Given the description of an element on the screen output the (x, y) to click on. 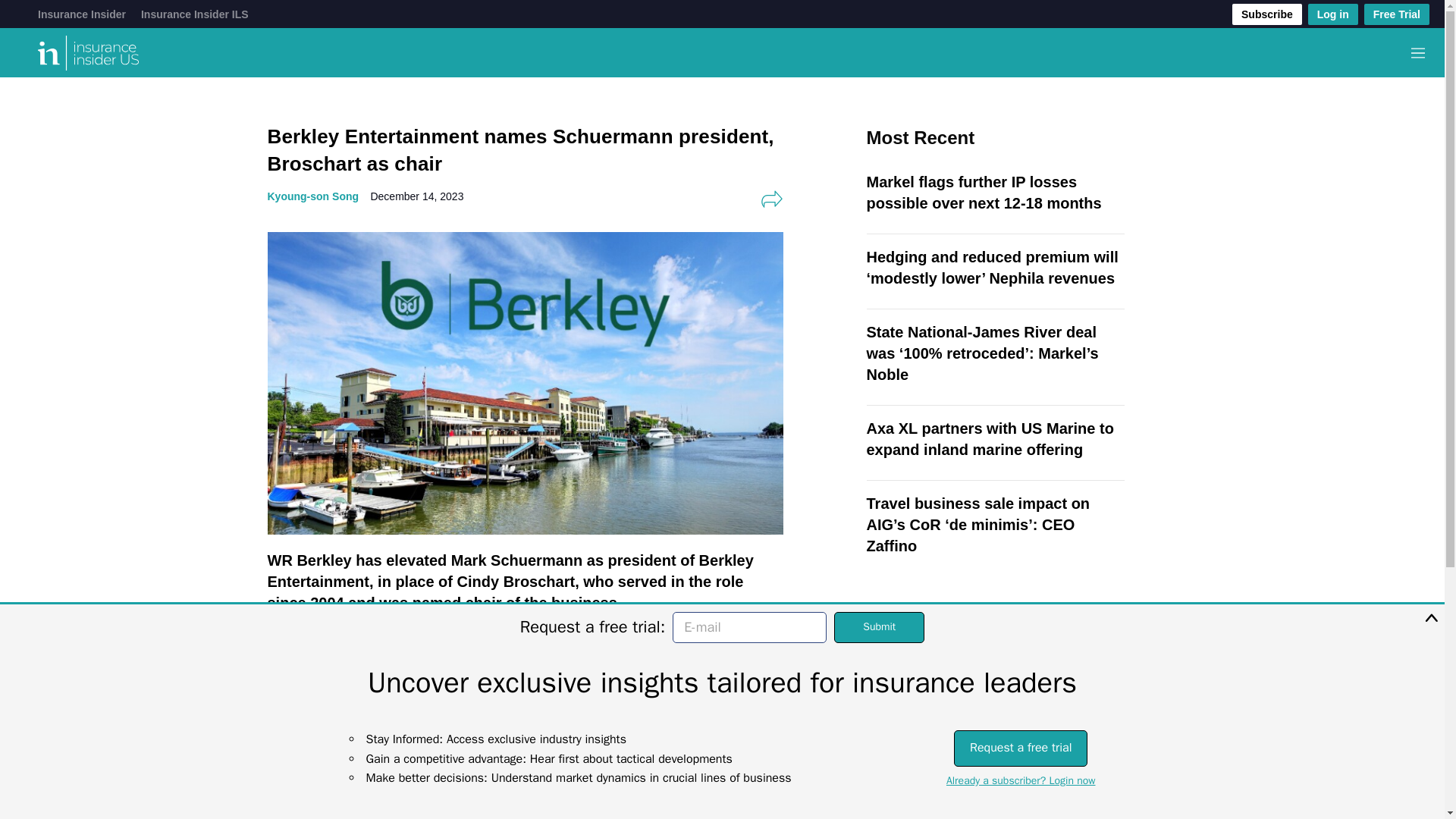
Insurance Insider (81, 13)
Submit (879, 626)
Free Trial (1396, 13)
Log in (1332, 13)
Subscribe (1266, 13)
Share (771, 199)
Insurance Insider ILS (194, 13)
